Given the description of an element on the screen output the (x, y) to click on. 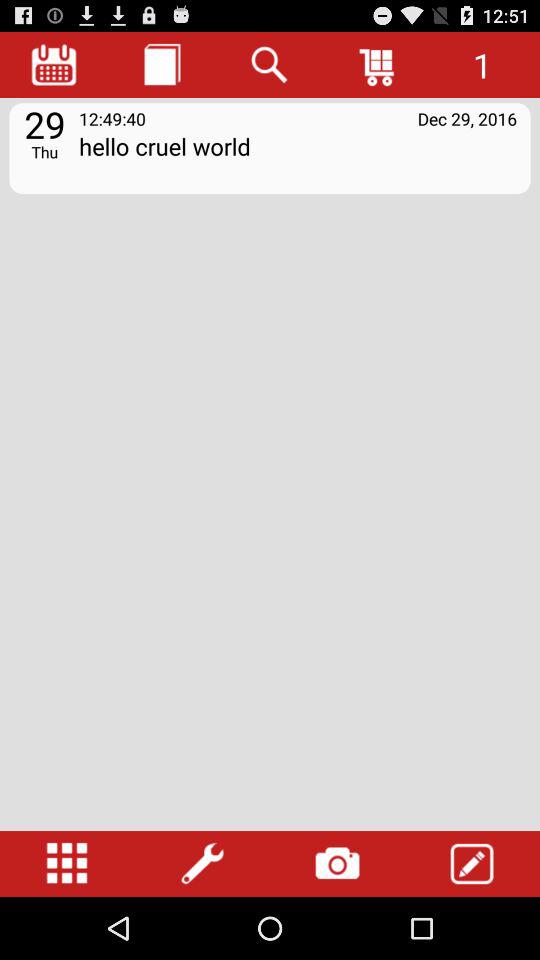
turn on app above the hello cruel world app (377, 64)
